Given the description of an element on the screen output the (x, y) to click on. 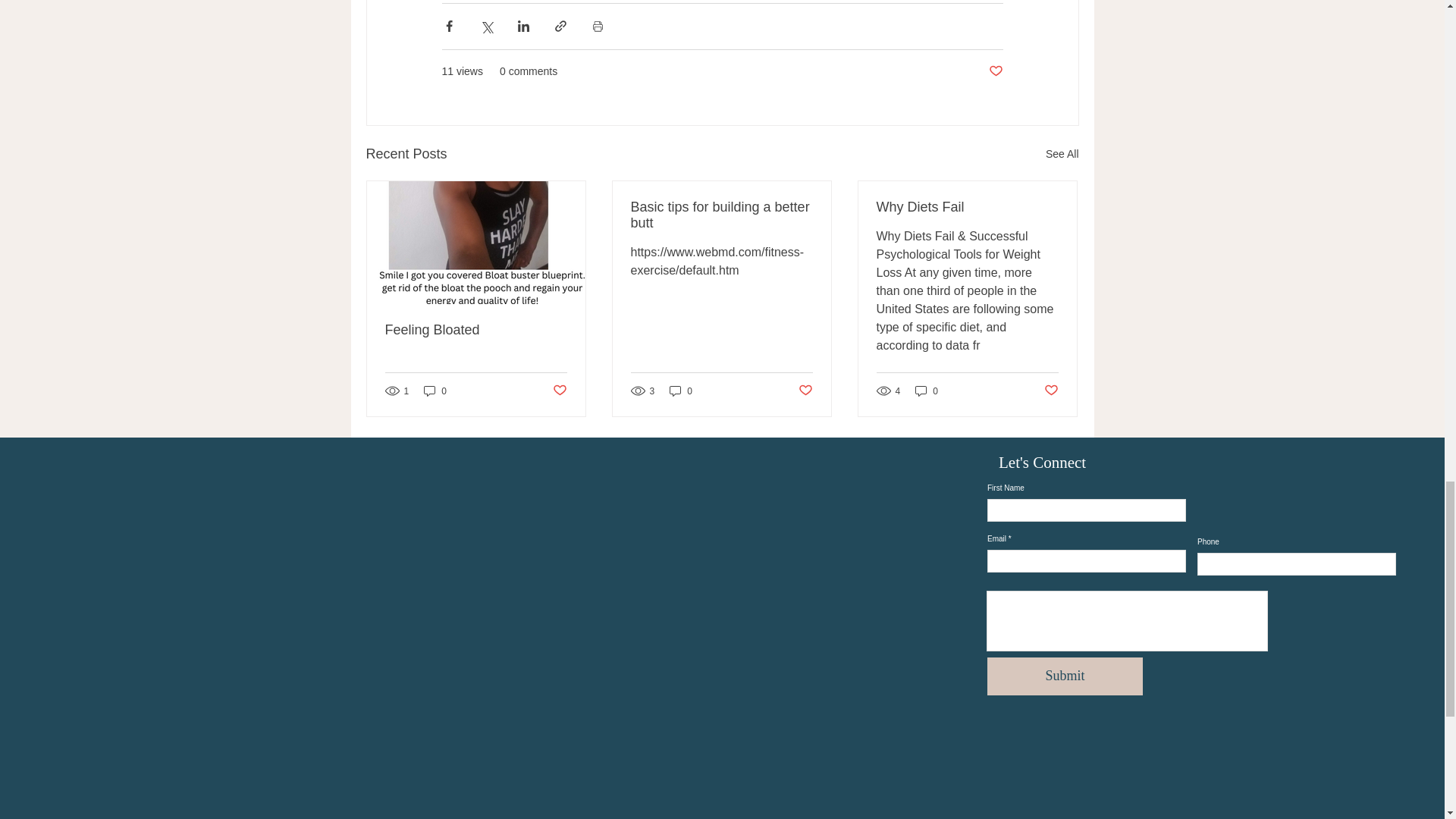
Basic tips for building a better butt (721, 214)
Post not marked as liked (558, 390)
Post not marked as liked (995, 71)
Why Diets Fail (967, 207)
0 (435, 391)
0 (926, 391)
Post not marked as liked (804, 390)
Post not marked as liked (1050, 390)
0 (681, 391)
See All (1061, 154)
